Given the description of an element on the screen output the (x, y) to click on. 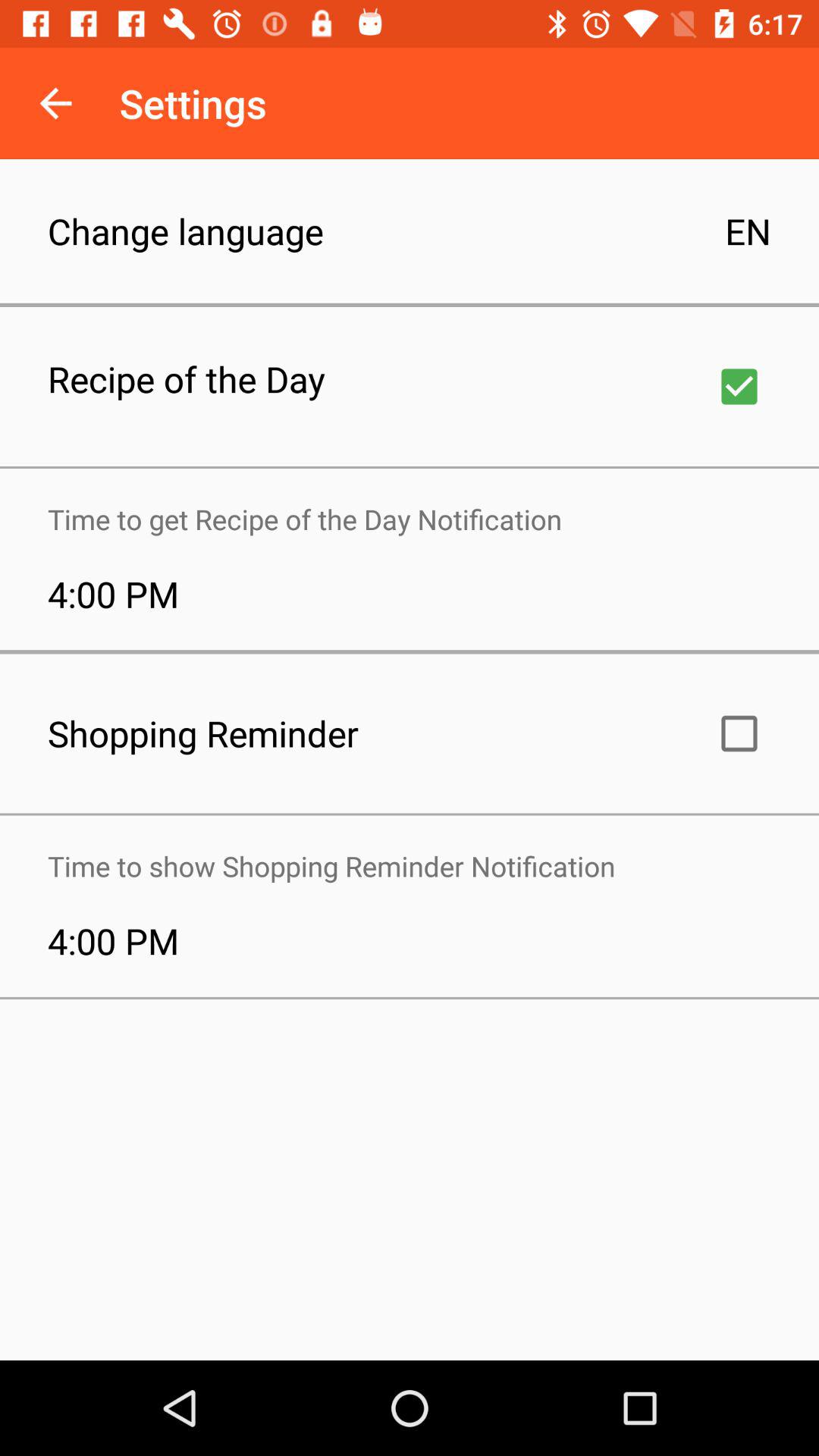
button to check (739, 386)
